Given the description of an element on the screen output the (x, y) to click on. 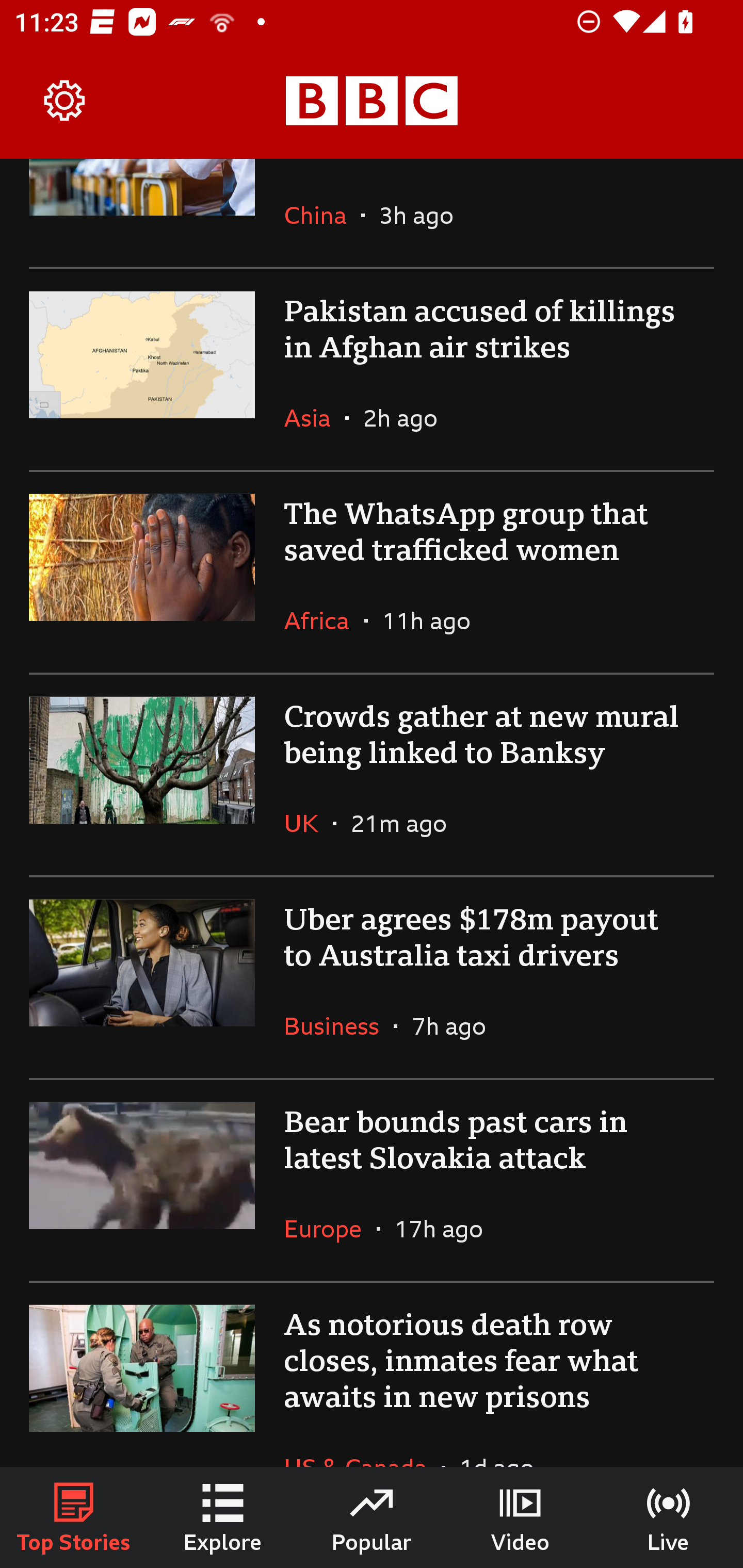
Settings (64, 100)
China In the section China (322, 214)
Asia In the section Asia (314, 417)
Africa In the section Africa (323, 619)
UK In the section UK (307, 822)
Business In the section Business (338, 1025)
Europe In the section Europe (329, 1228)
Explore (222, 1517)
Popular (371, 1517)
Video (519, 1517)
Live (668, 1517)
